Given the description of an element on the screen output the (x, y) to click on. 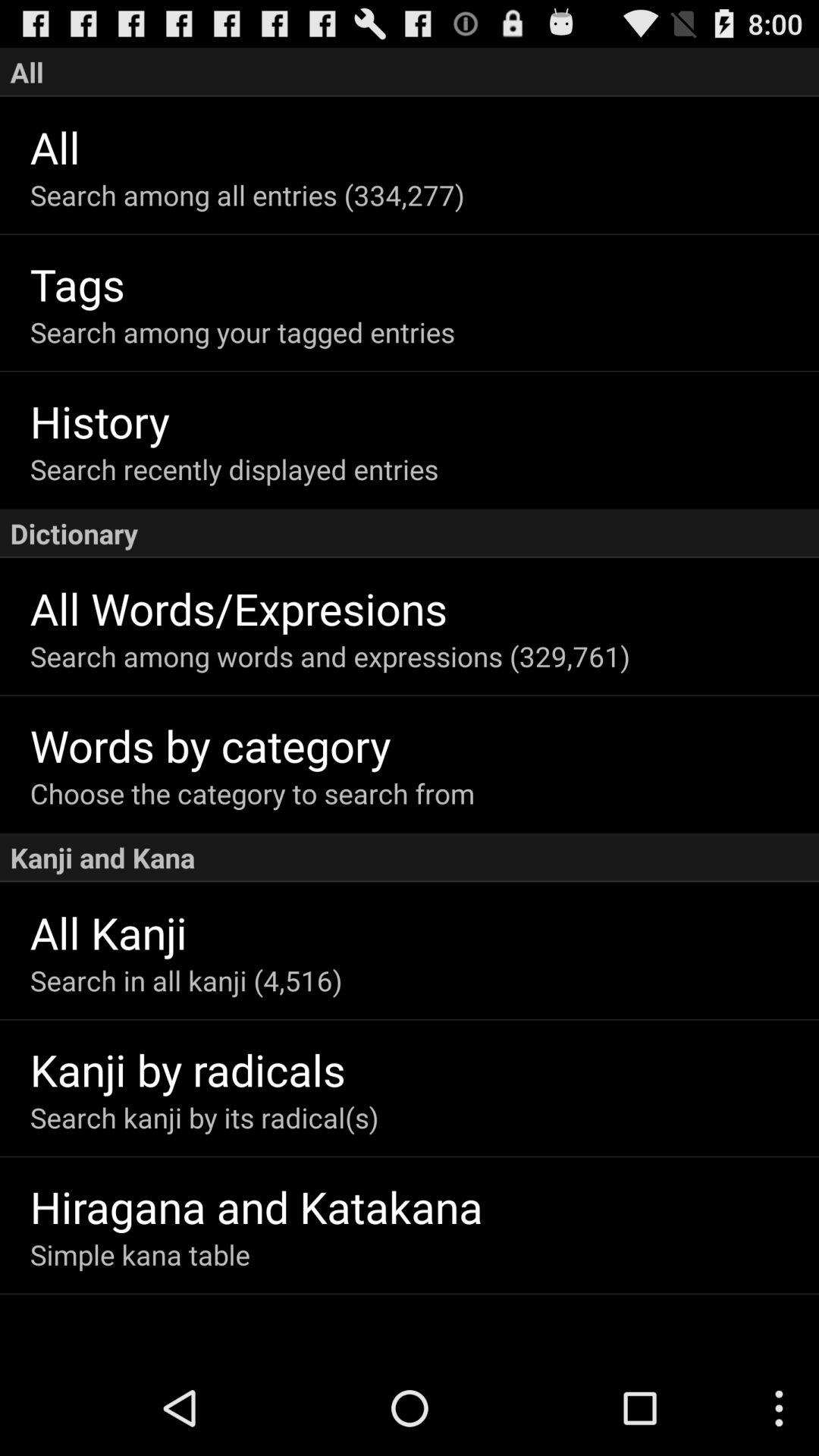
click the hiragana and katakana item (424, 1206)
